Given the description of an element on the screen output the (x, y) to click on. 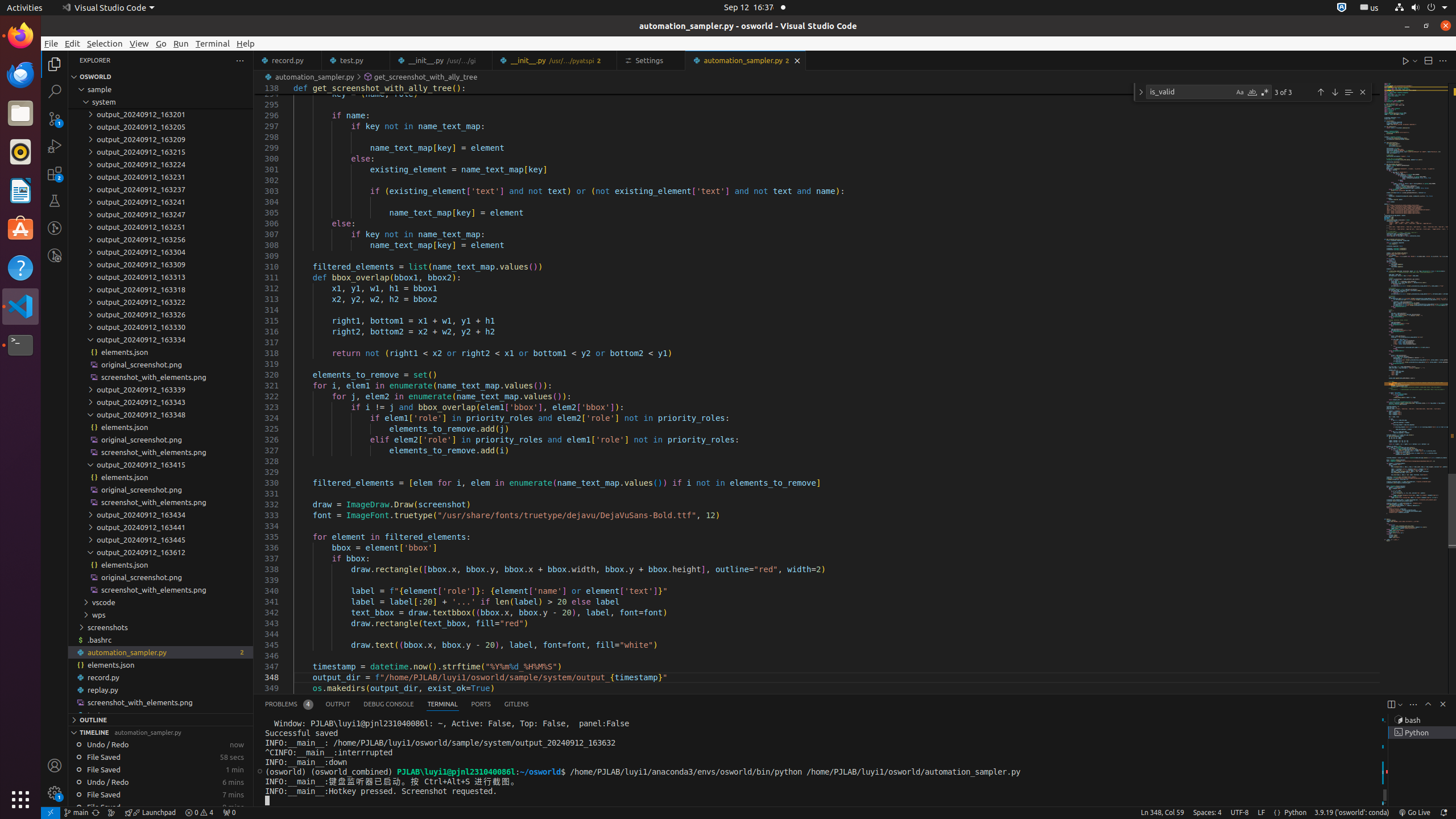
output_20240912_163330 Element type: tree-item (160, 326)
Ln 348, Col 59 Element type: push-button (1162, 812)
output_20240912_163343 Element type: tree-item (160, 401)
1 minute: File Saved Element type: tree-item (160, 769)
View Element type: push-button (139, 43)
